Given the description of an element on the screen output the (x, y) to click on. 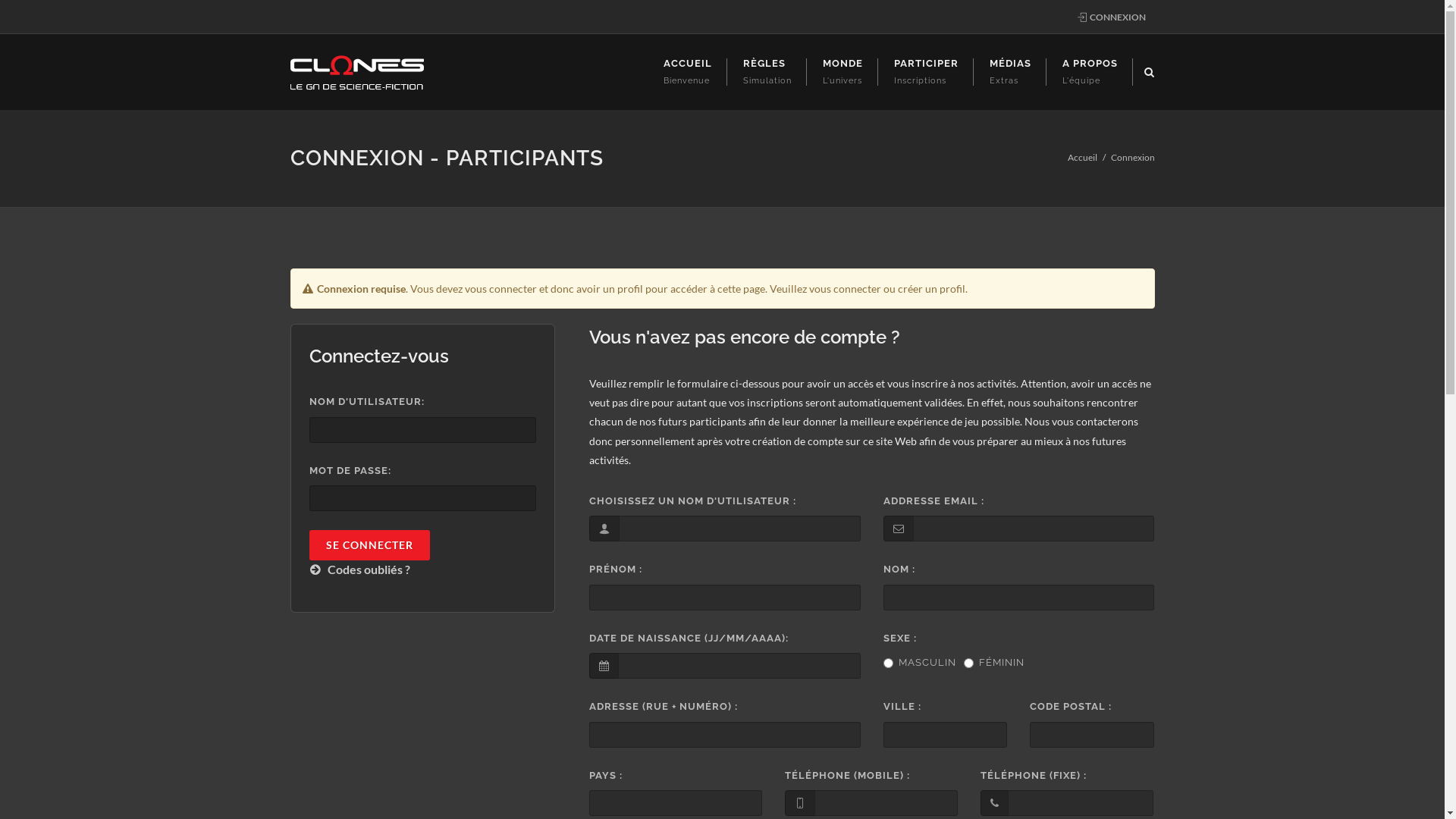
MONDE
L'Univers Element type: text (841, 71)
Connexion Element type: text (1132, 157)
Accueil Element type: text (1082, 157)
SE CONNECTER Element type: text (369, 545)
ACCUEIL
Bienvenue Element type: text (686, 71)
PARTICIPER
Inscriptions Element type: text (925, 71)
CONNEXION Element type: text (1110, 16)
